Given the description of an element on the screen output the (x, y) to click on. 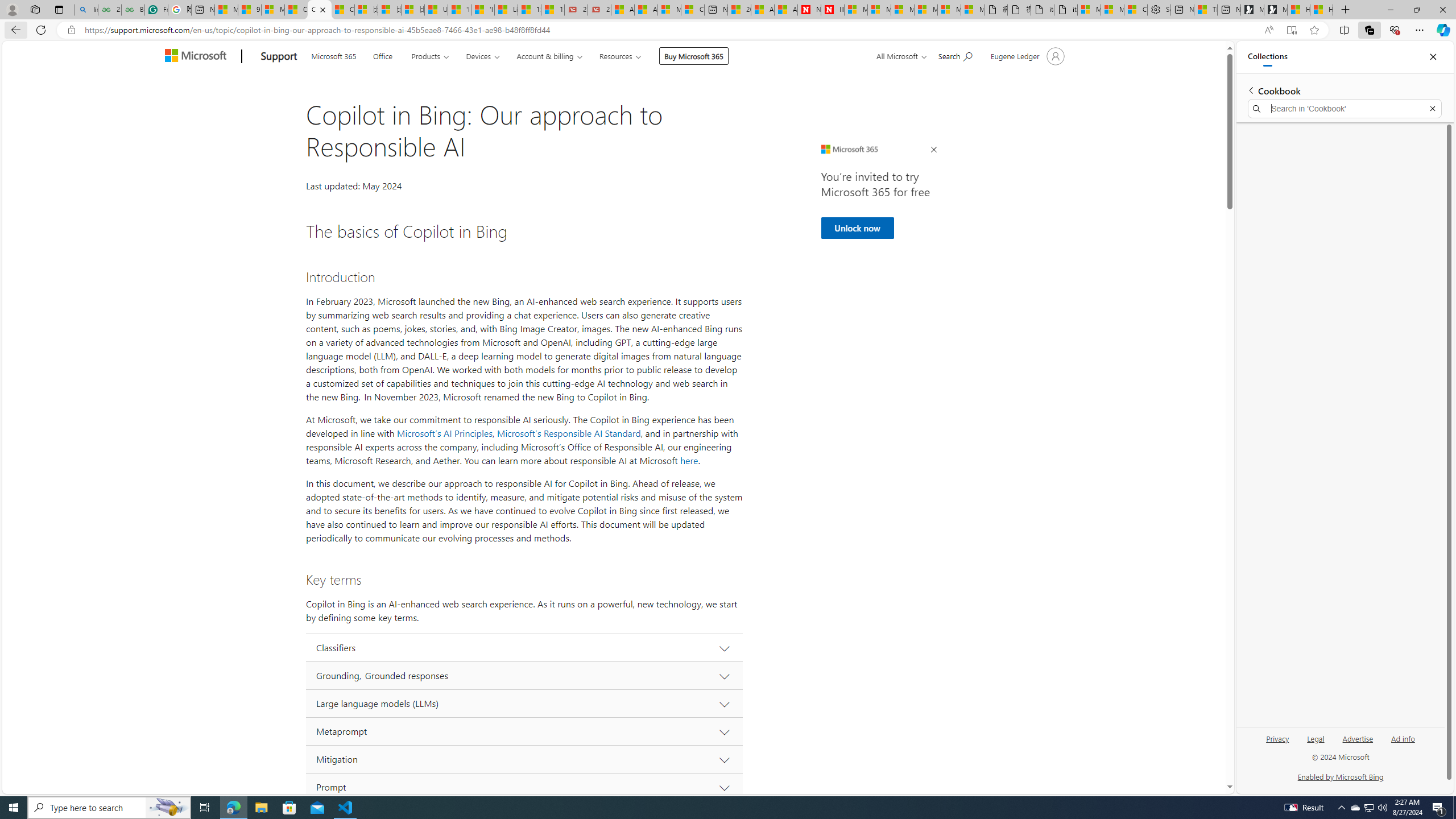
How to Use a TV as a Computer Monitor (1321, 9)
Close Ad (933, 149)
15 Ways Modern Life Contradicts the Teachings of Jesus (552, 9)
Office (382, 54)
